Given the description of an element on the screen output the (x, y) to click on. 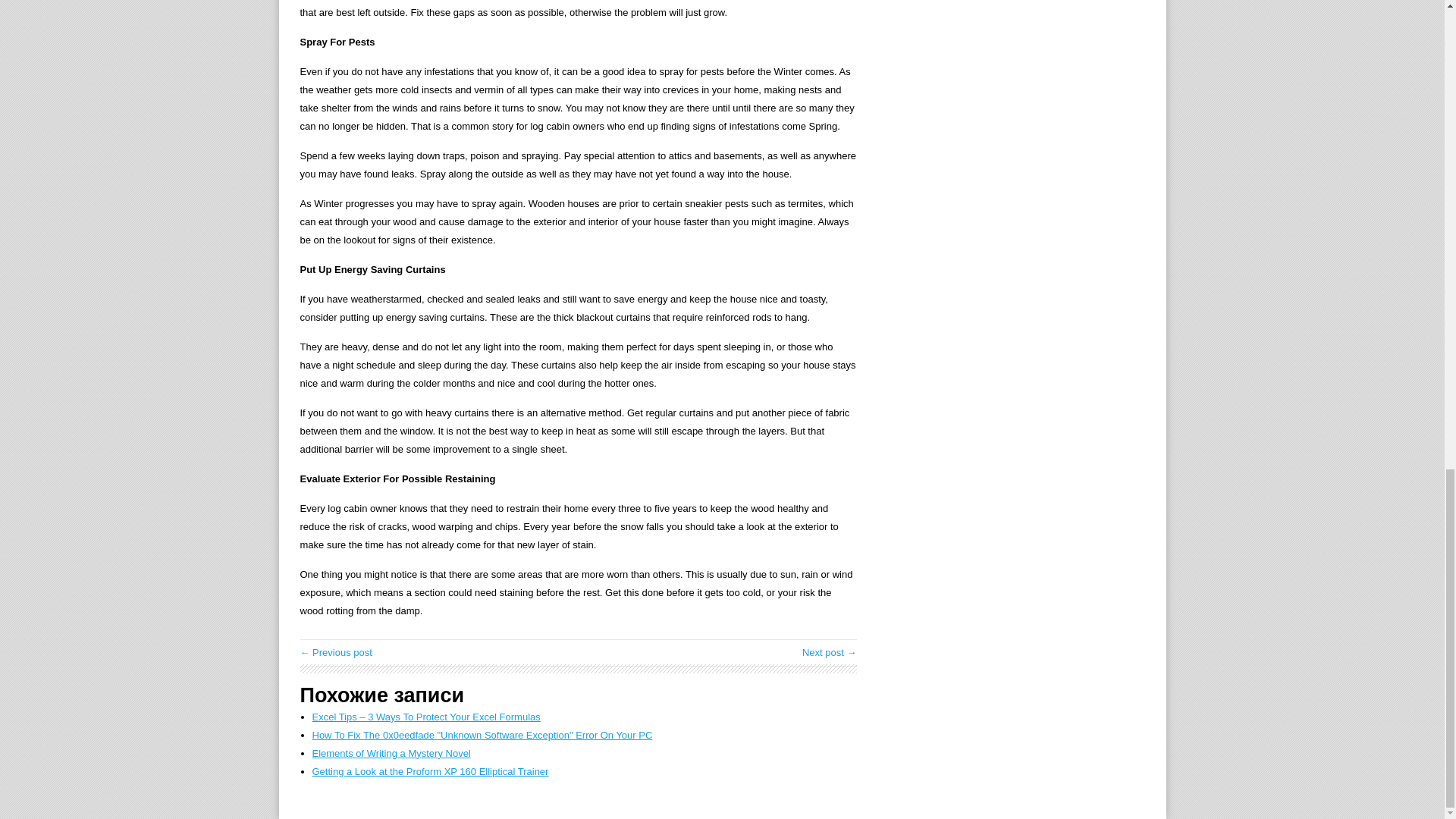
Getting a Look at the Proform XP 160 Elliptical Trainer (430, 771)
Reality And Prejudices In The Kentucky Highlands (829, 652)
Elements of Writing a Mystery Novel (391, 753)
